Given the description of an element on the screen output the (x, y) to click on. 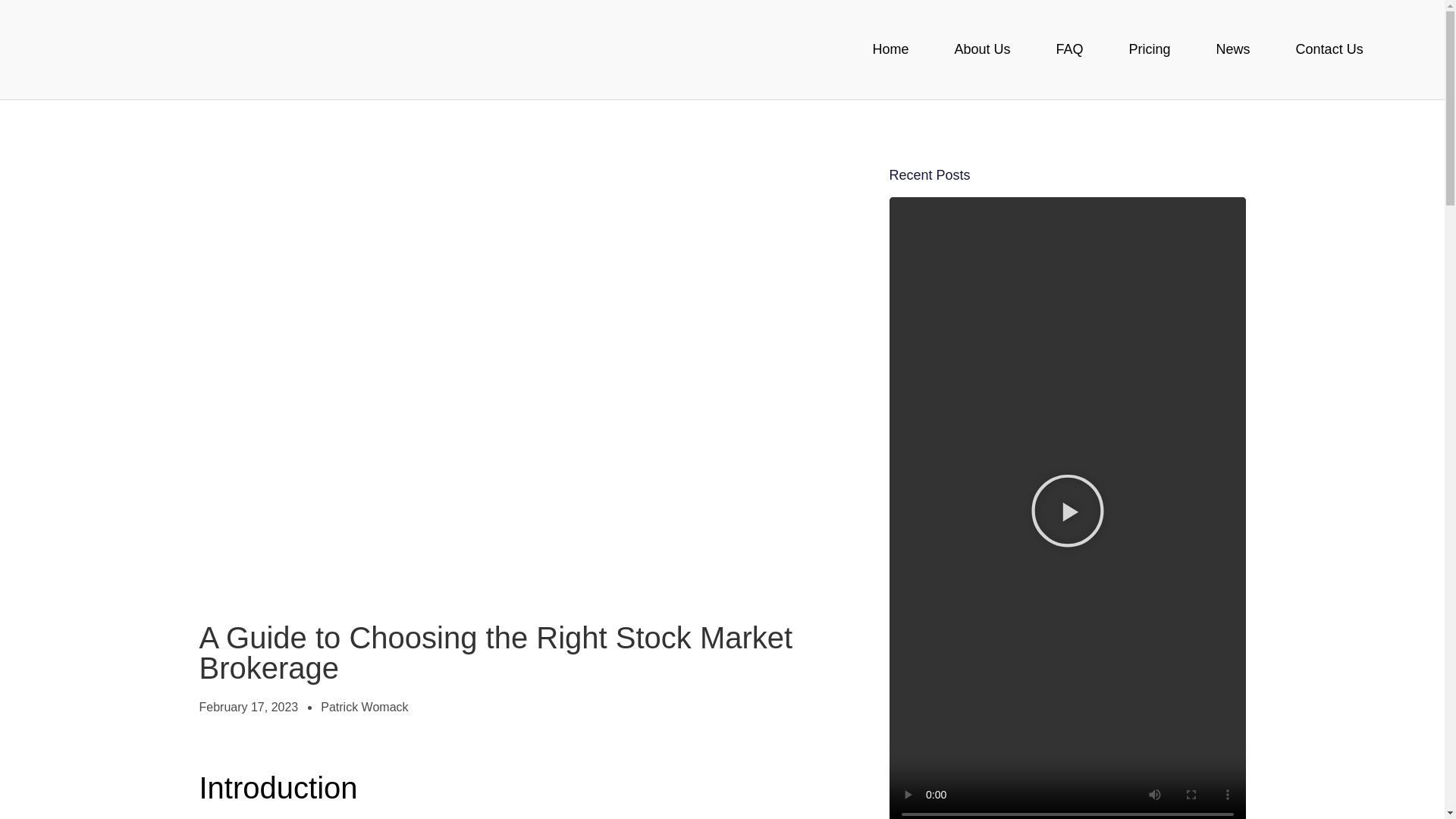
Pricing (1149, 48)
FAQ (1069, 48)
Home (889, 48)
About Us (981, 48)
Contact Us (1329, 48)
News (1232, 48)
February 17, 2023 (248, 707)
Patrick Womack (363, 707)
